Given the description of an element on the screen output the (x, y) to click on. 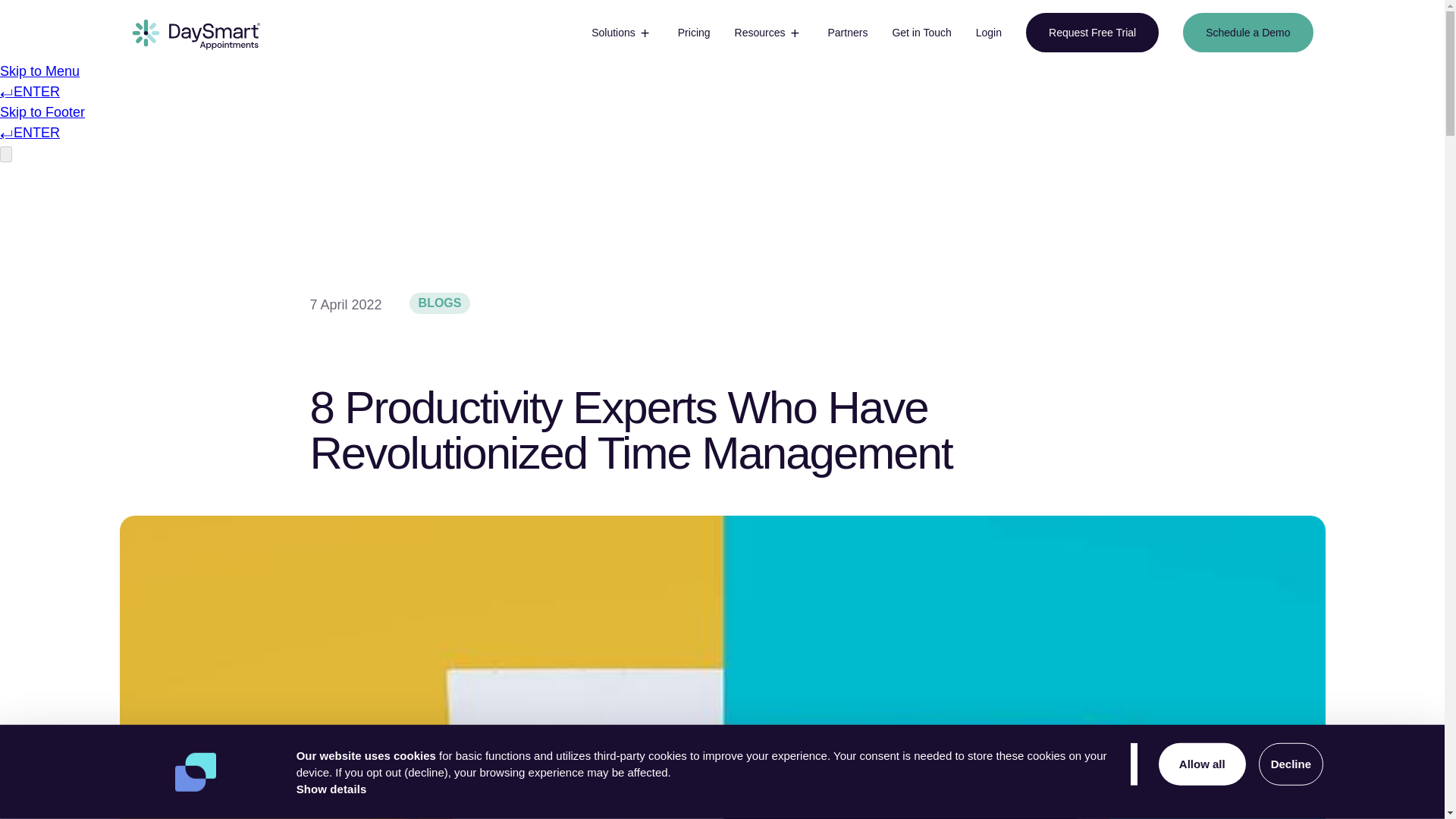
Homepage (196, 33)
Show details (331, 789)
